Given the description of an element on the screen output the (x, y) to click on. 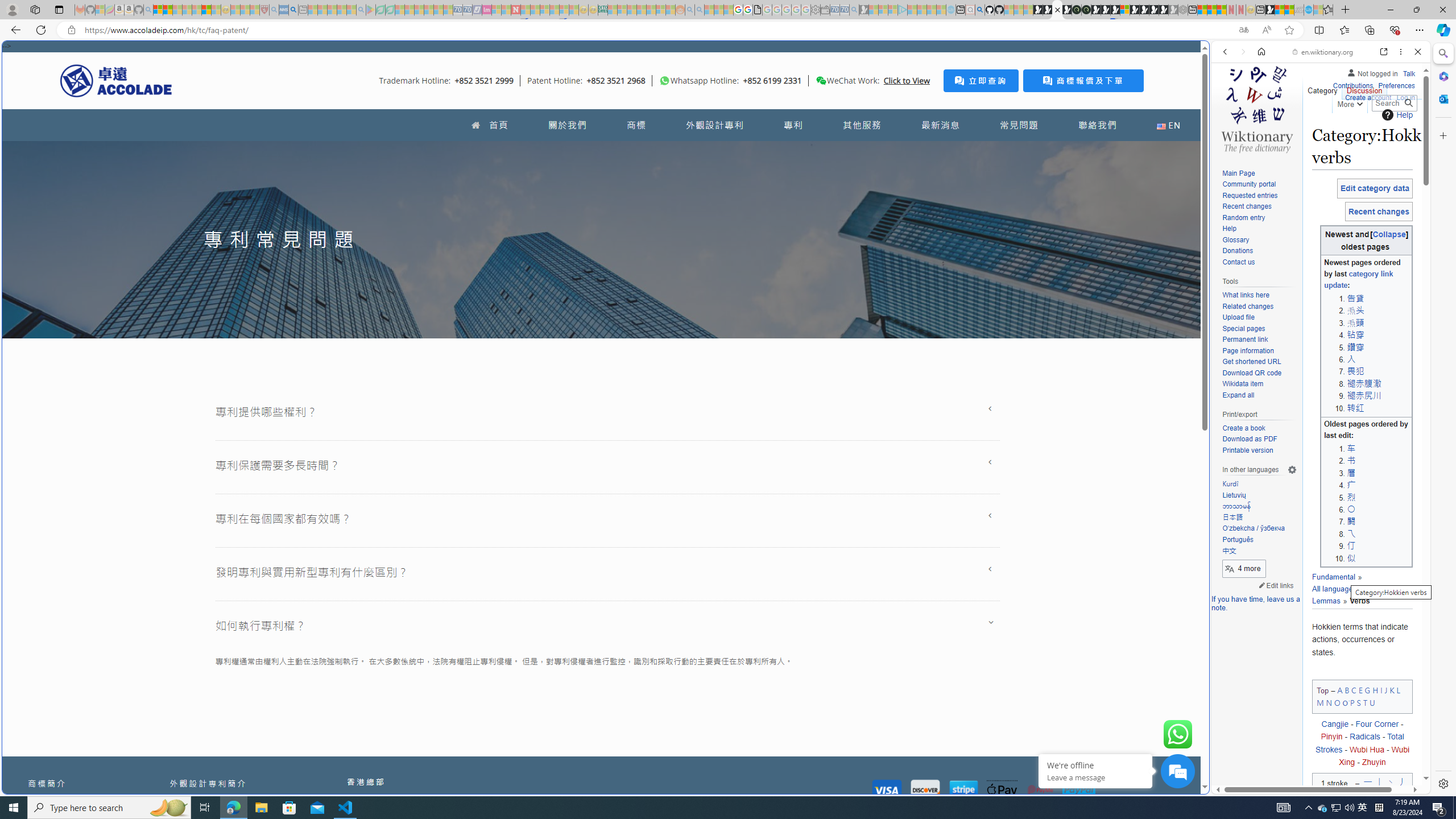
All languages (1336, 582)
Download as PDF (1259, 439)
Talk (1408, 71)
